Given the description of an element on the screen output the (x, y) to click on. 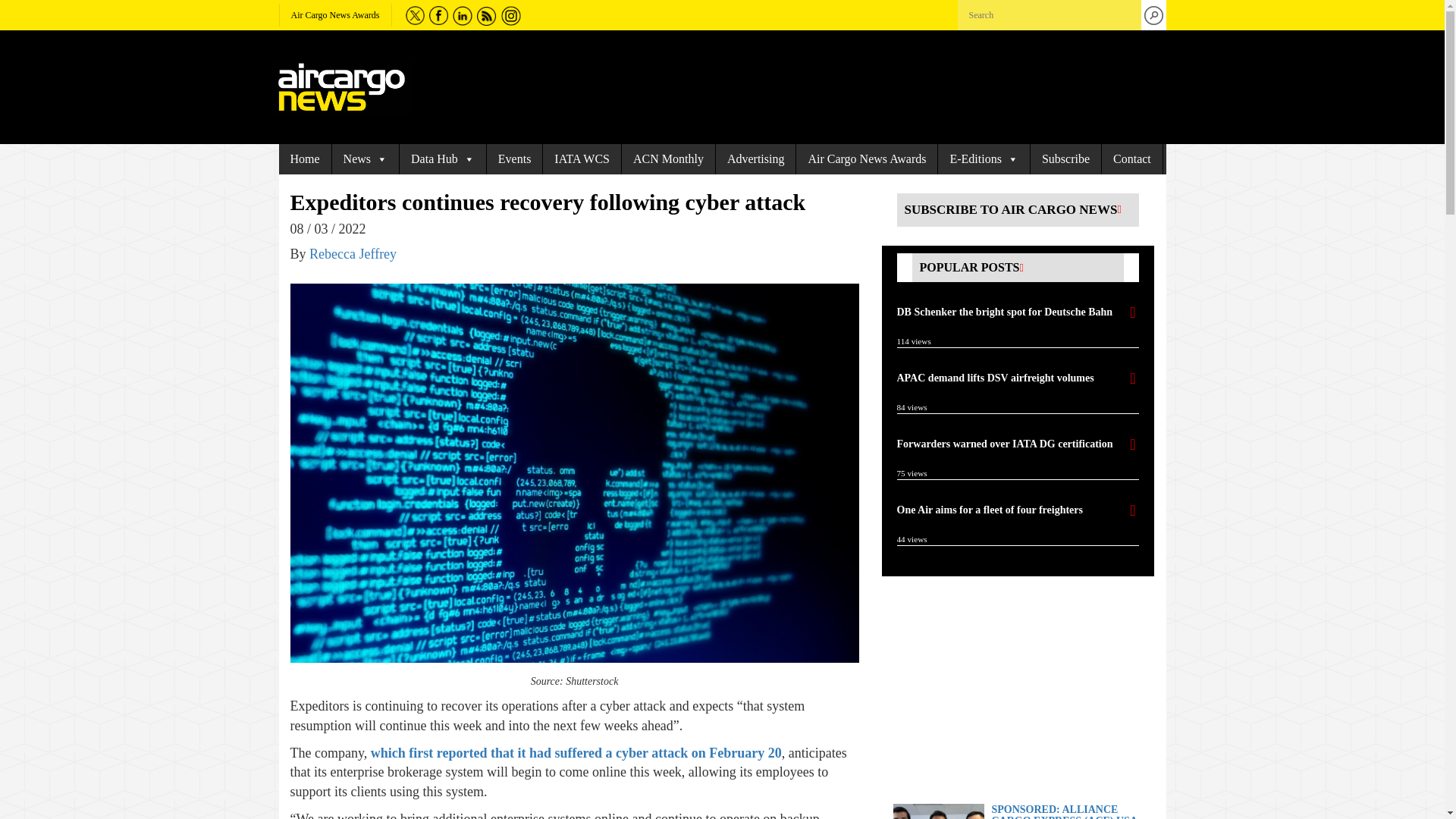
3rd party ad content (1010, 689)
News (364, 159)
Home (305, 159)
Air Cargo News Awards (335, 14)
3rd party ad content (786, 87)
